Given the description of an element on the screen output the (x, y) to click on. 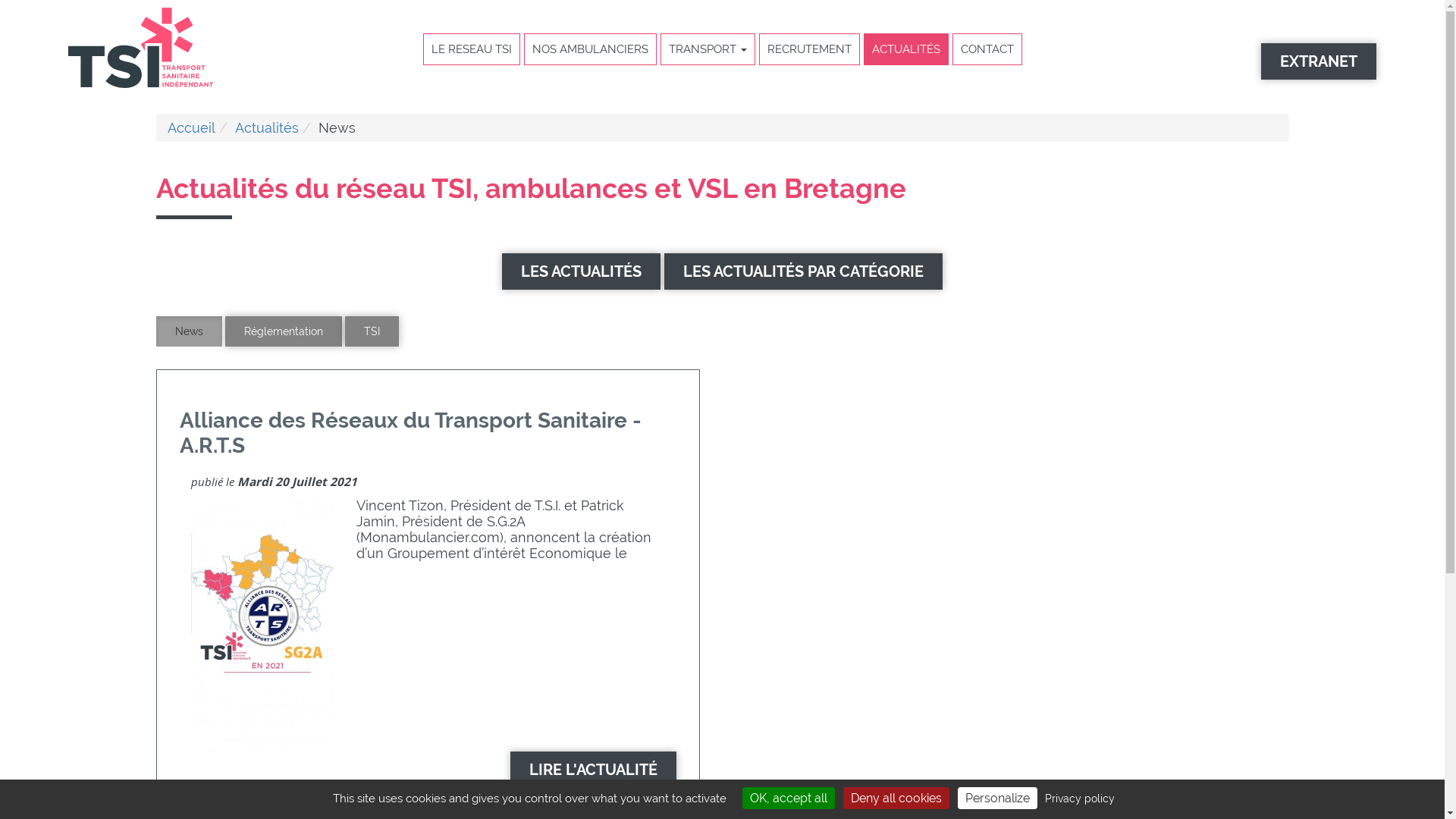
EXTRANET Element type: text (1318, 61)
TSI Element type: text (371, 331)
OK, accept all Element type: text (788, 798)
Accueil Element type: text (190, 127)
News Element type: text (189, 331)
LE RESEAU TSI Element type: text (470, 49)
Privacy policy Element type: text (1079, 798)
Personalize Element type: text (997, 798)
accueil Element type: hover (140, 83)
Deny all cookies Element type: text (896, 798)
RECRUTEMENT Element type: text (809, 49)
TRANSPORT Element type: text (707, 49)
CONTACT Element type: text (986, 49)
NOS AMBULANCIERS Element type: text (589, 49)
